Given the description of an element on the screen output the (x, y) to click on. 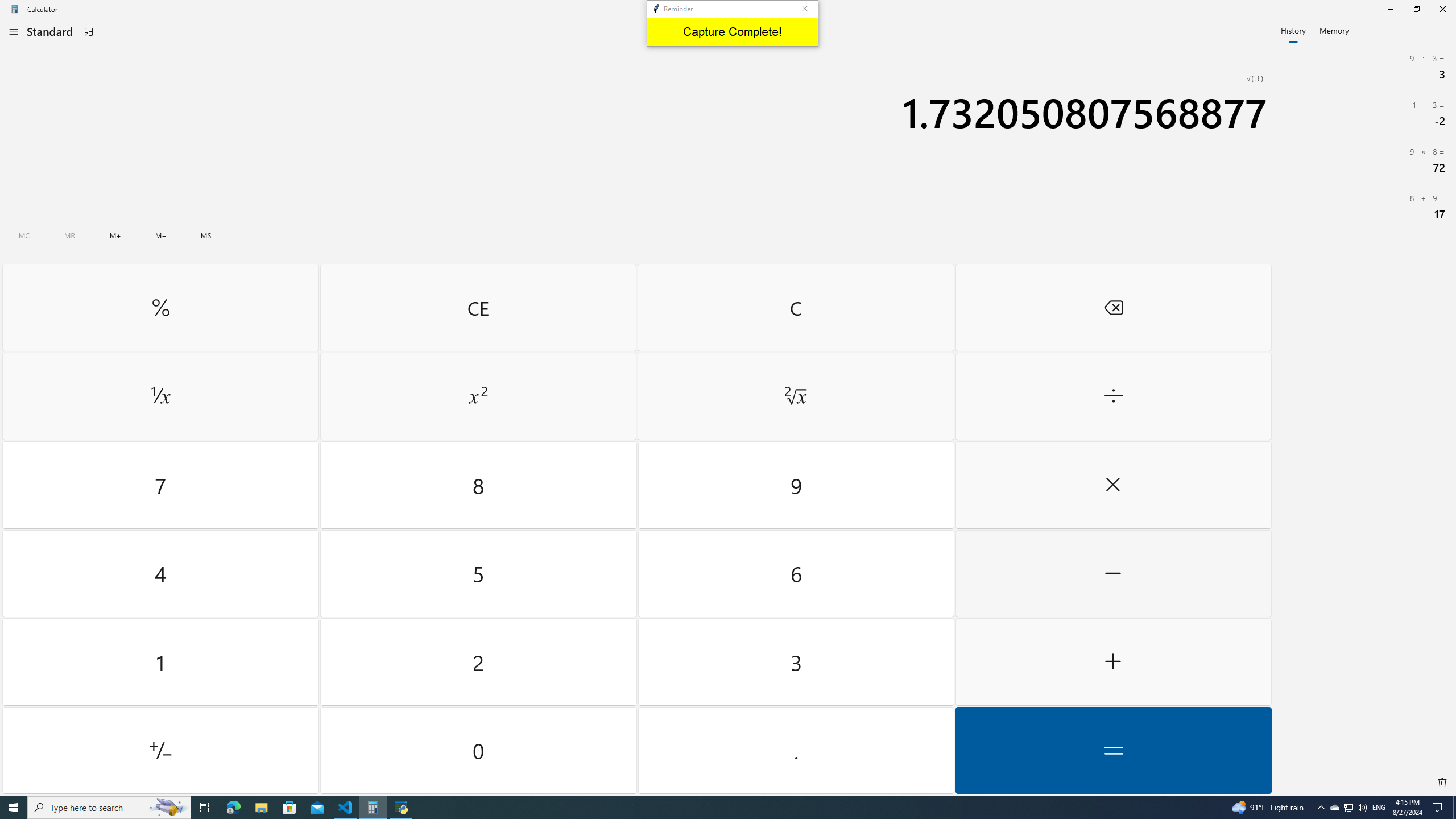
Positive negative (160, 749)
Five (478, 572)
Clear all memory (24, 235)
Six (795, 572)
Clear entry (478, 307)
Eight (478, 485)
Memory subtract (160, 235)
Open Navigation (13, 31)
Memory store (206, 235)
